Given the description of an element on the screen output the (x, y) to click on. 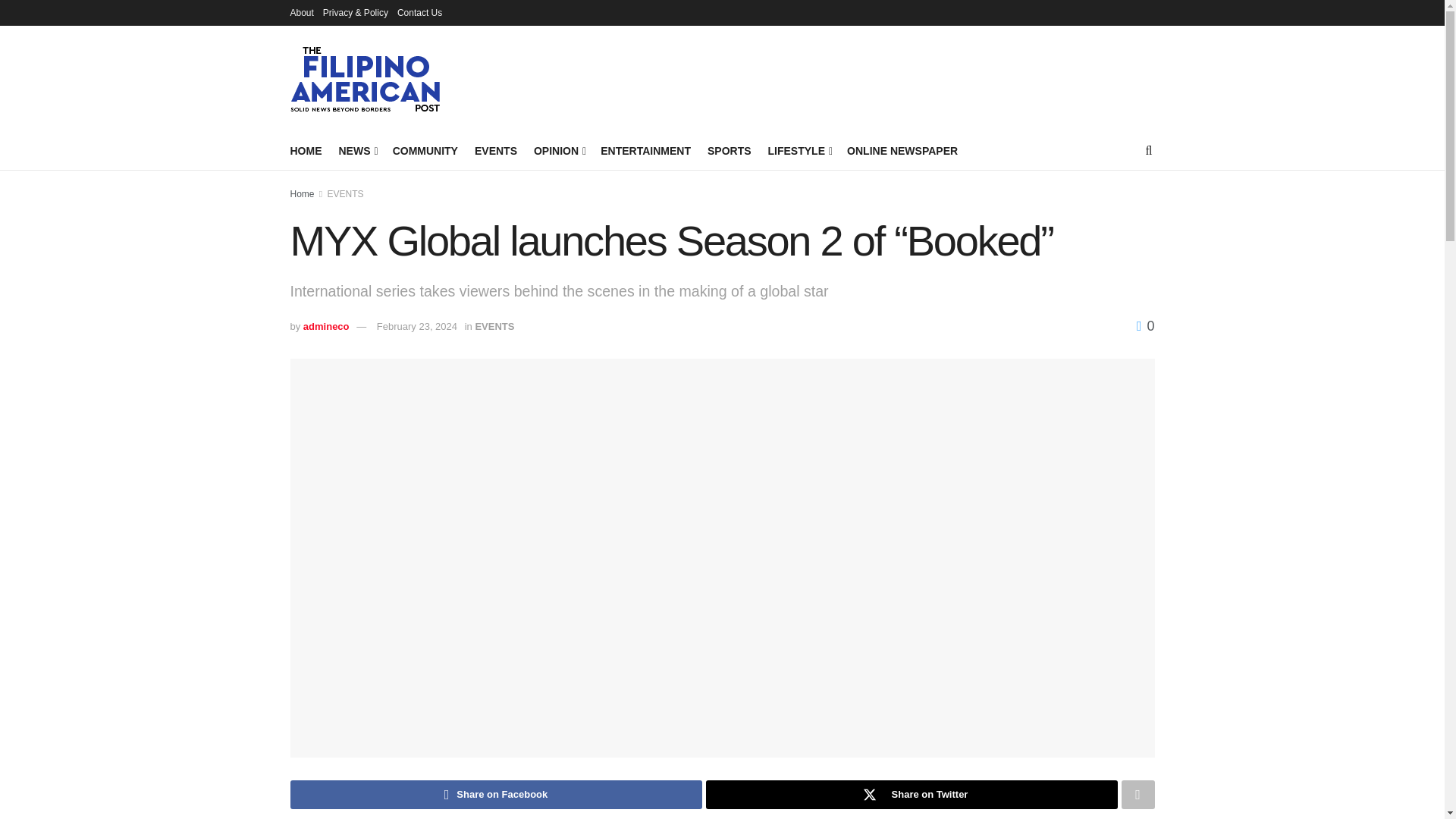
NEWS (356, 150)
EVENTS (495, 150)
COMMUNITY (425, 150)
Contact Us (419, 12)
About (301, 12)
OPINION (558, 150)
HOME (305, 150)
